Given the description of an element on the screen output the (x, y) to click on. 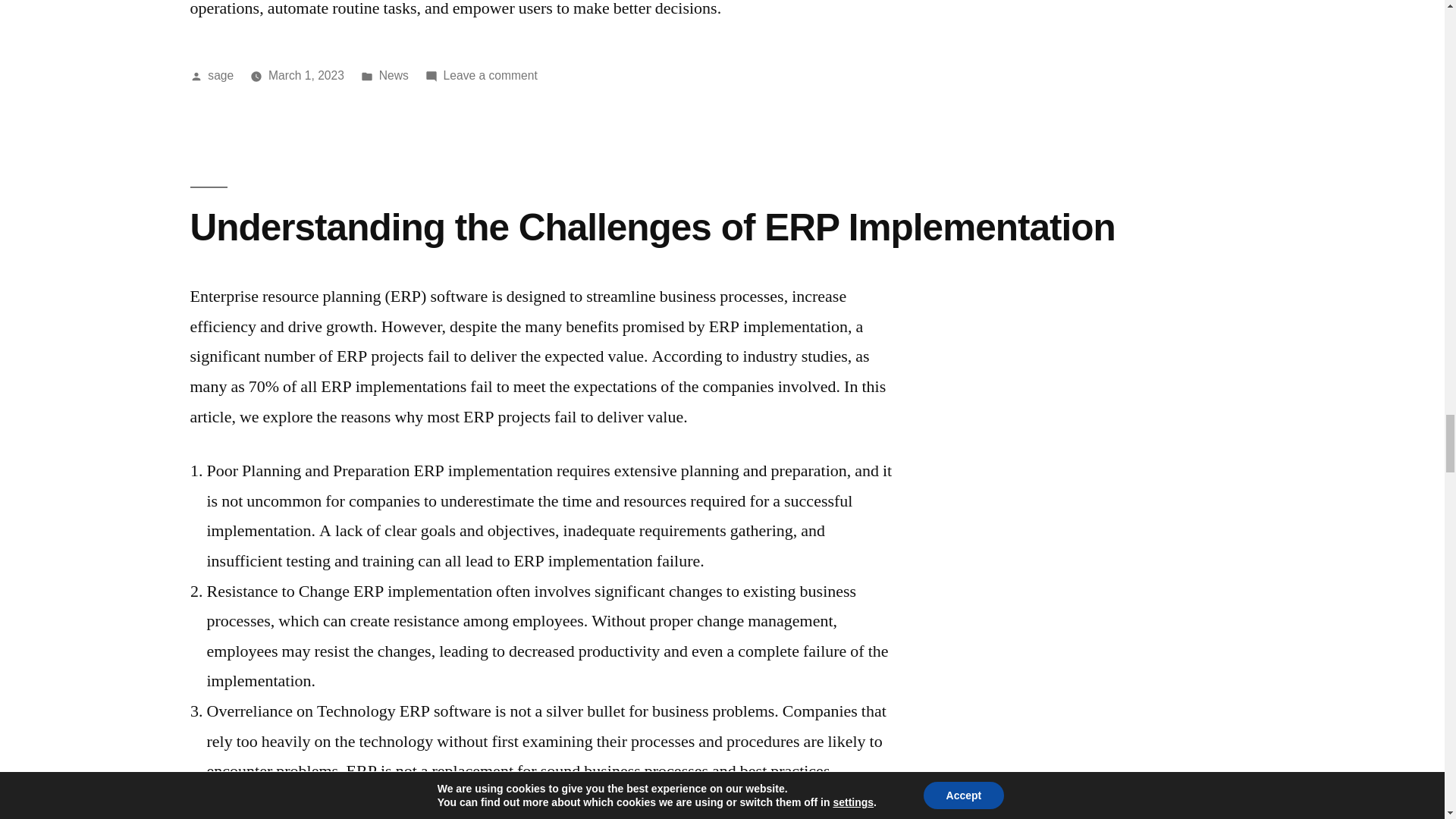
sage (220, 74)
March 1, 2023 (305, 74)
Understanding the Challenges of ERP Implementation (490, 74)
News (652, 227)
